Given the description of an element on the screen output the (x, y) to click on. 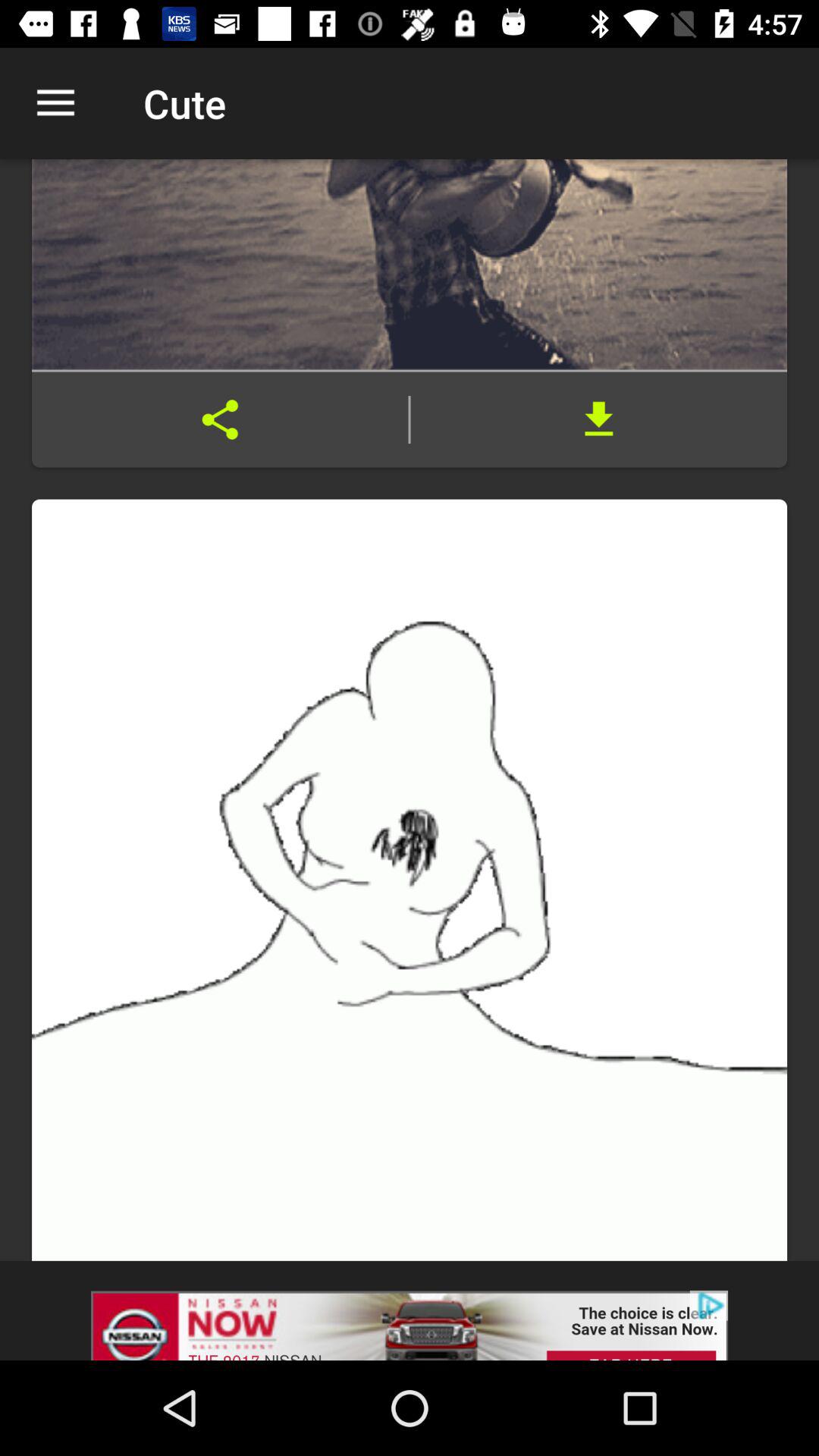
click on download button (599, 419)
